Given the description of an element on the screen output the (x, y) to click on. 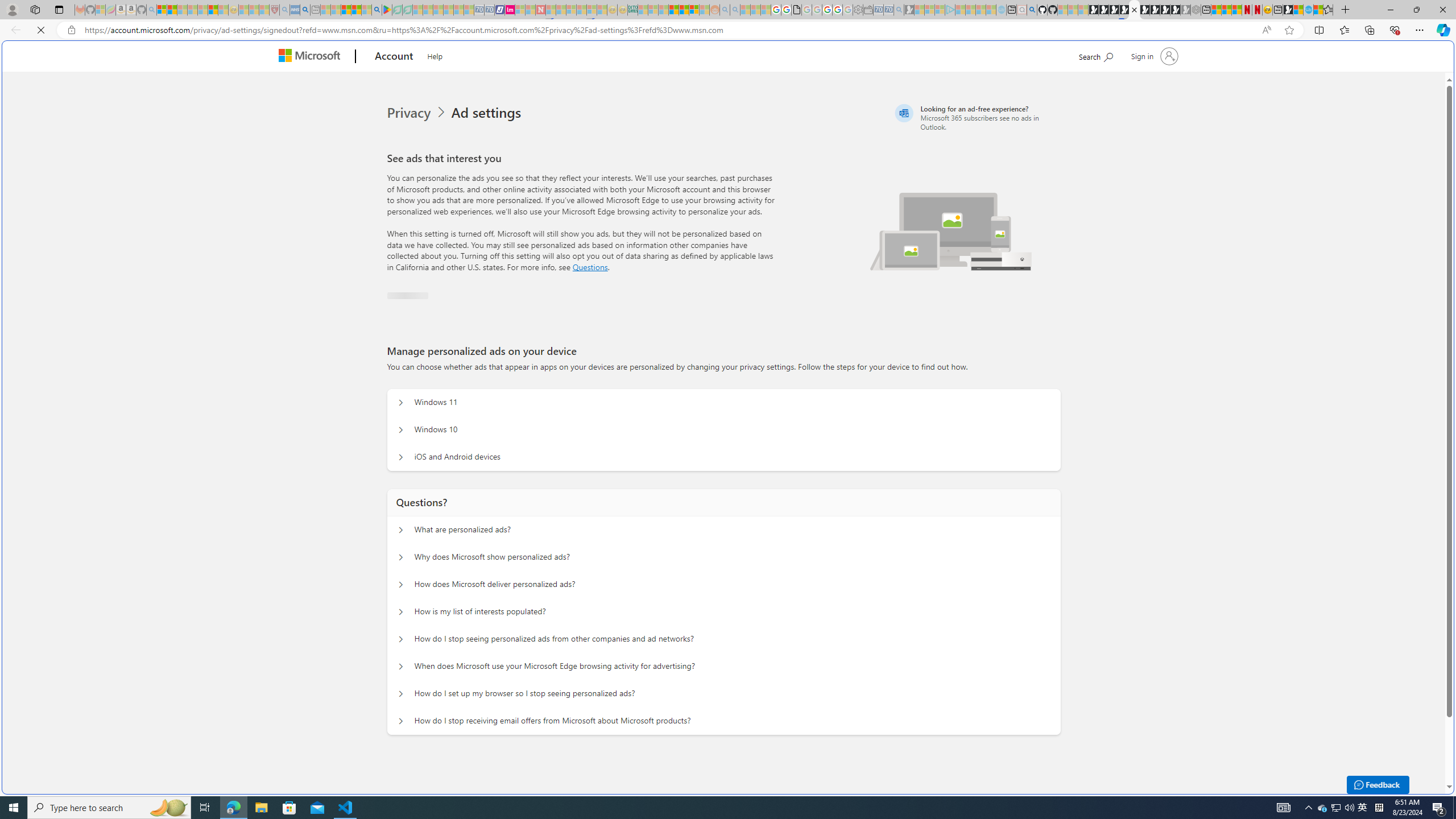
Jobs - lastminute.com Investor Portal (509, 9)
Play Free Online Games | Games from Microsoft Start (1093, 9)
Go to Questions section (590, 266)
Cheap Hotels - Save70.com - Sleeping (489, 9)
World - MSN (727, 389)
